Given the description of an element on the screen output the (x, y) to click on. 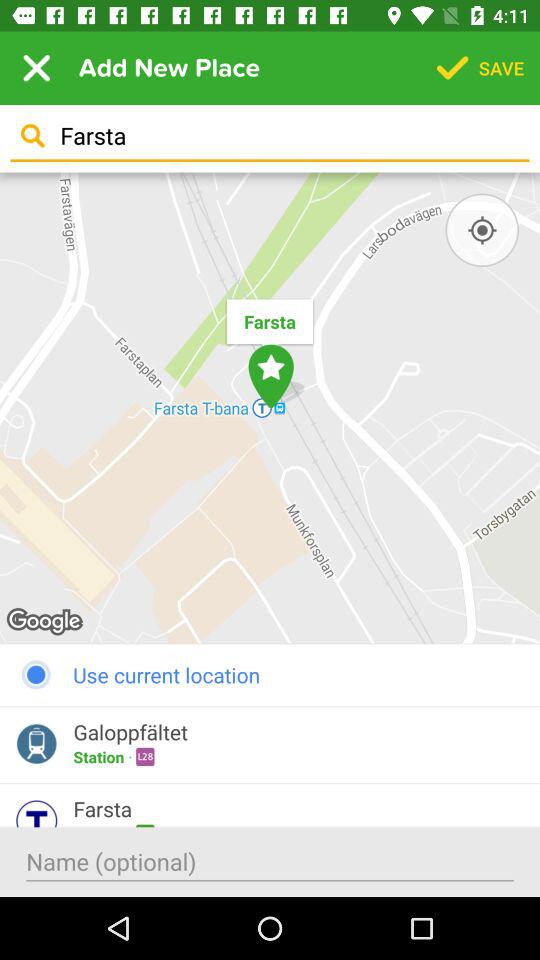
turn off item above the use current location icon (482, 229)
